Given the description of an element on the screen output the (x, y) to click on. 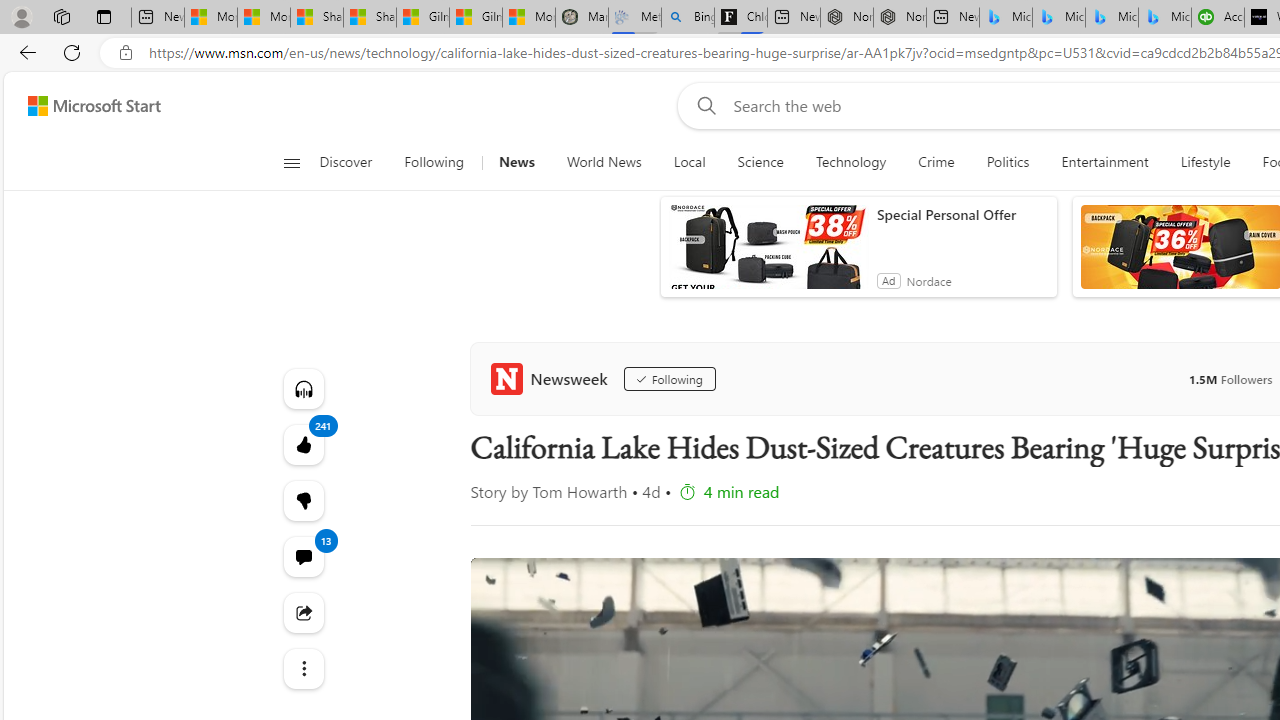
Accounting Software for Accountants, CPAs and Bookkeepers (1217, 17)
Listen to this article (302, 388)
anim-content (768, 255)
Newsweek (552, 378)
Gilma and Hector both pose tropical trouble for Hawaii (475, 17)
Share this story (302, 612)
Microsoft Bing Travel - Stays in Bangkok, Bangkok, Thailand (1059, 17)
Lifestyle (1205, 162)
Science (760, 162)
